Given the description of an element on the screen output the (x, y) to click on. 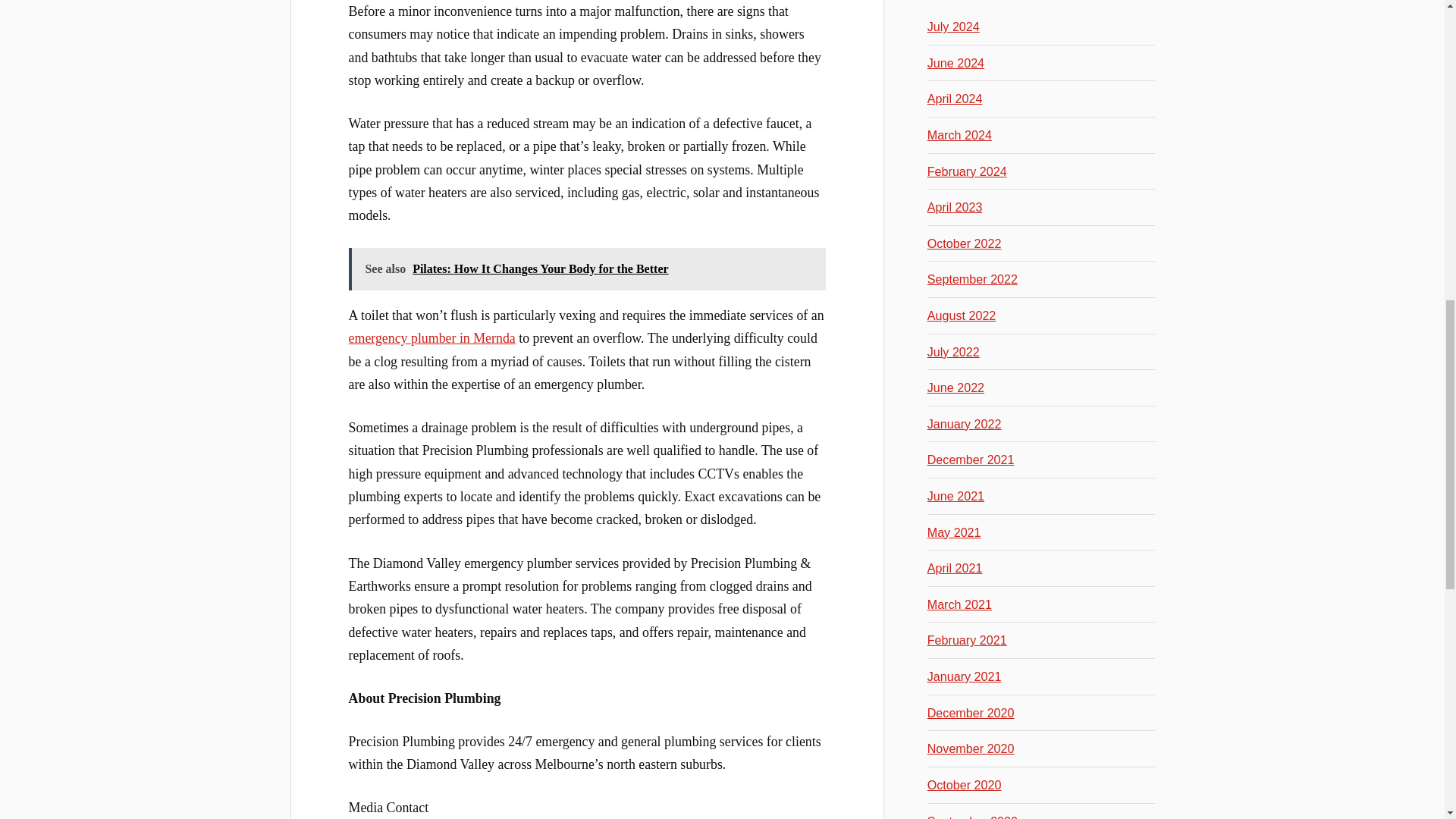
See also  Pilates: How It Changes Your Body for the Better (587, 269)
October 2022 (964, 243)
June 2024 (955, 62)
March 2024 (959, 134)
April 2023 (954, 206)
August 2022 (961, 315)
July 2024 (953, 26)
July 2022 (953, 351)
emergency plumber in Mernda (432, 337)
April 2024 (954, 98)
September 2022 (972, 278)
February 2024 (967, 171)
June 2022 (955, 386)
